Given the description of an element on the screen output the (x, y) to click on. 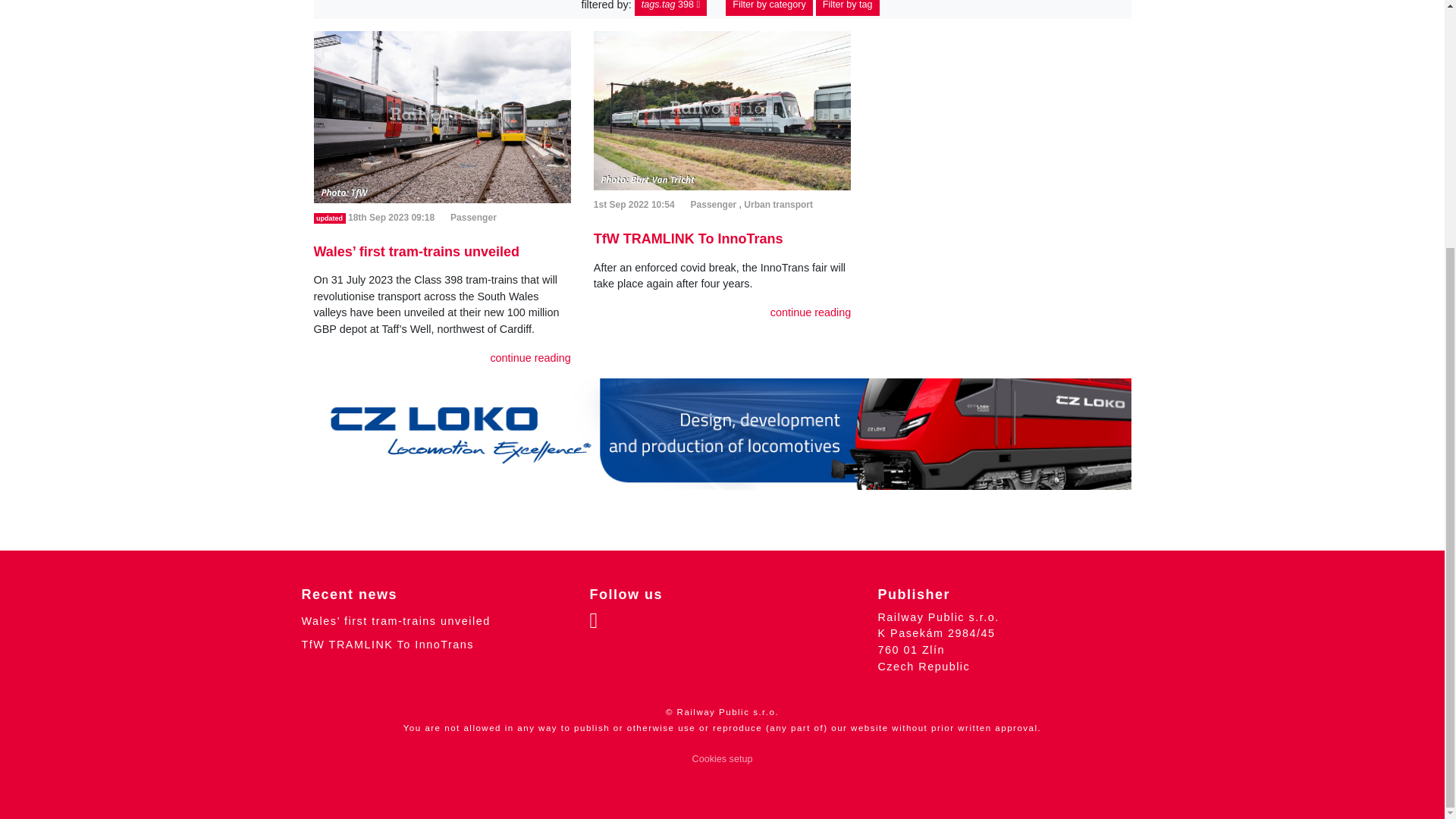
Filter by category (768, 7)
Filter by tag (847, 7)
tags.tag 398 (670, 7)
CZ LOKO (722, 433)
